Given the description of an element on the screen output the (x, y) to click on. 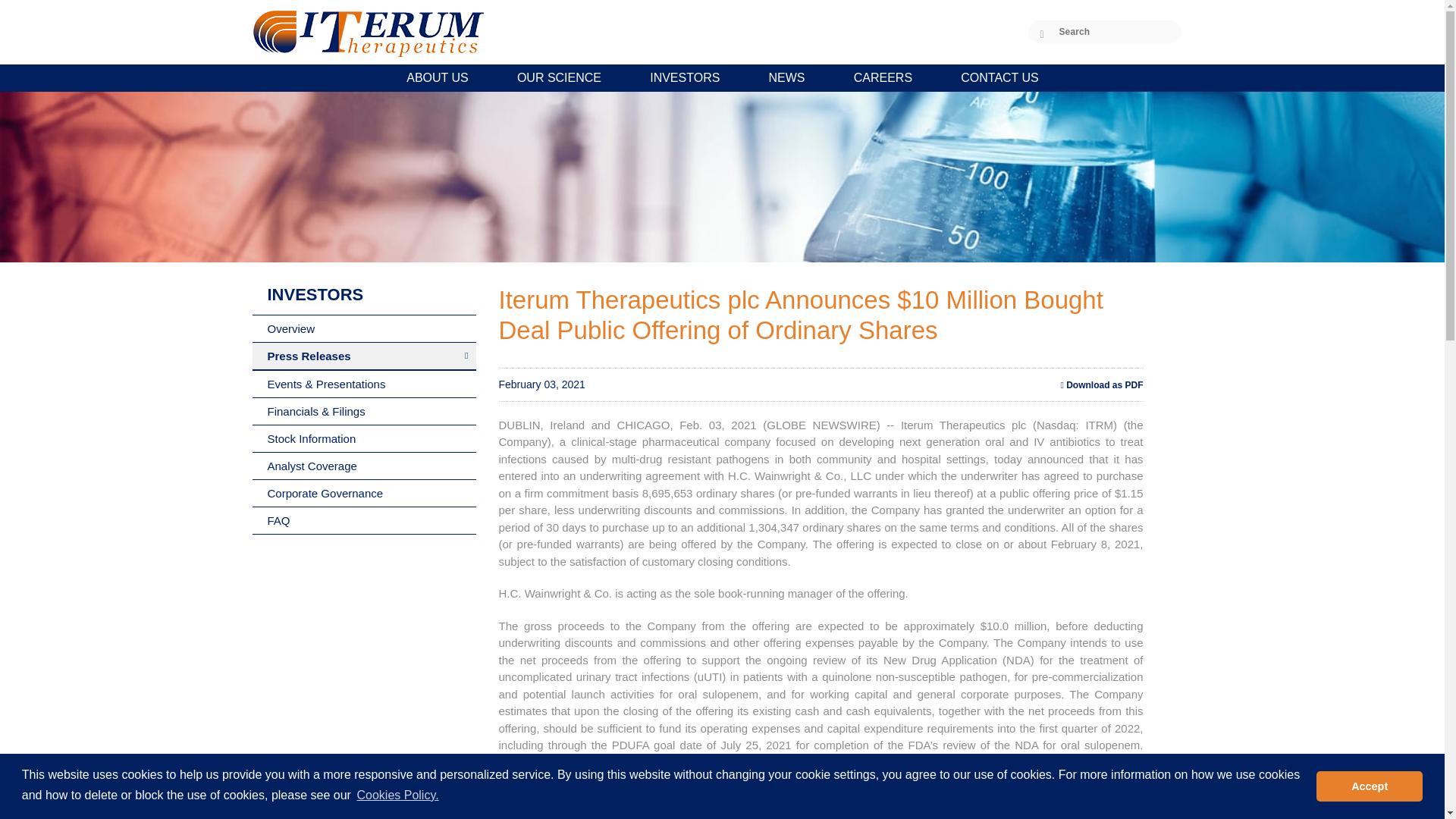
Press Releases (363, 356)
Stock Information (363, 438)
NEWS (786, 78)
CAREERS (882, 78)
INVESTORS (684, 78)
OUR SCIENCE (559, 78)
HOME (22, 78)
CONTACT US (999, 78)
Overview (363, 329)
Cookies Policy. (397, 794)
